Given the description of an element on the screen output the (x, y) to click on. 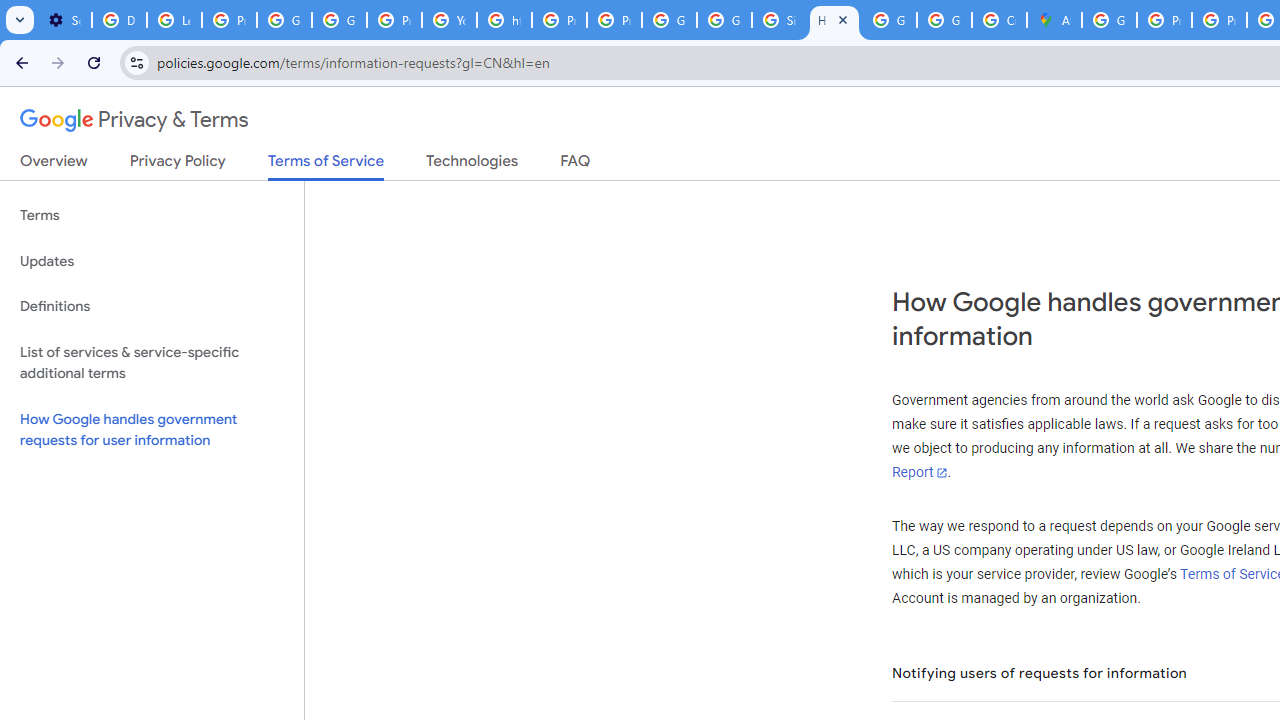
Create your Google Account (998, 20)
